Given the description of an element on the screen output the (x, y) to click on. 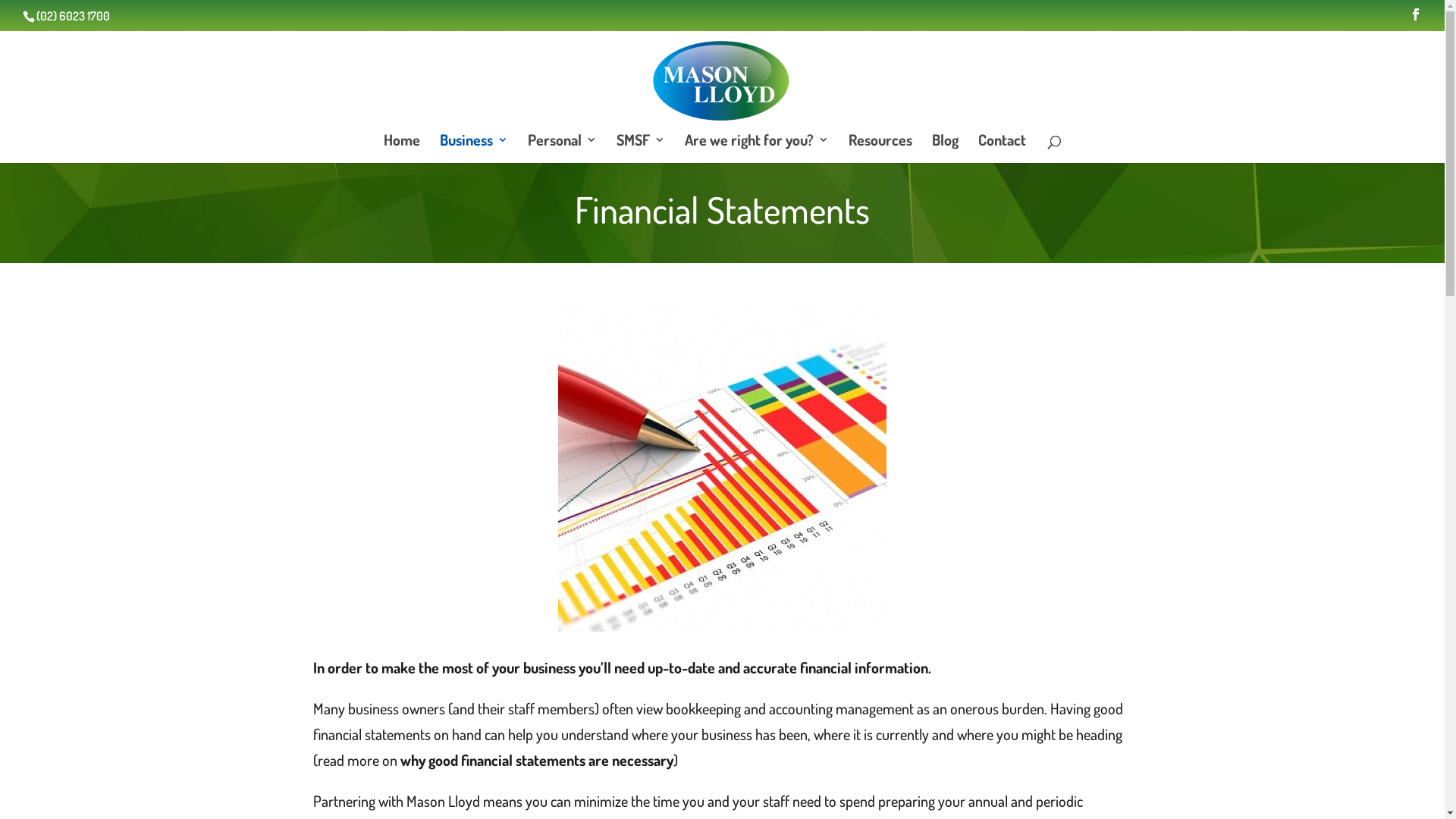
Are we right for you? Element type: text (756, 148)
Home Element type: text (401, 148)
Business Element type: text (473, 148)
Resources Element type: text (880, 148)
Blog Element type: text (944, 148)
Personal Element type: text (561, 148)
(02) 6023 1700 Element type: text (72, 15)
Contact Element type: text (1002, 148)
SMSF Element type: text (640, 148)
